Given the description of an element on the screen output the (x, y) to click on. 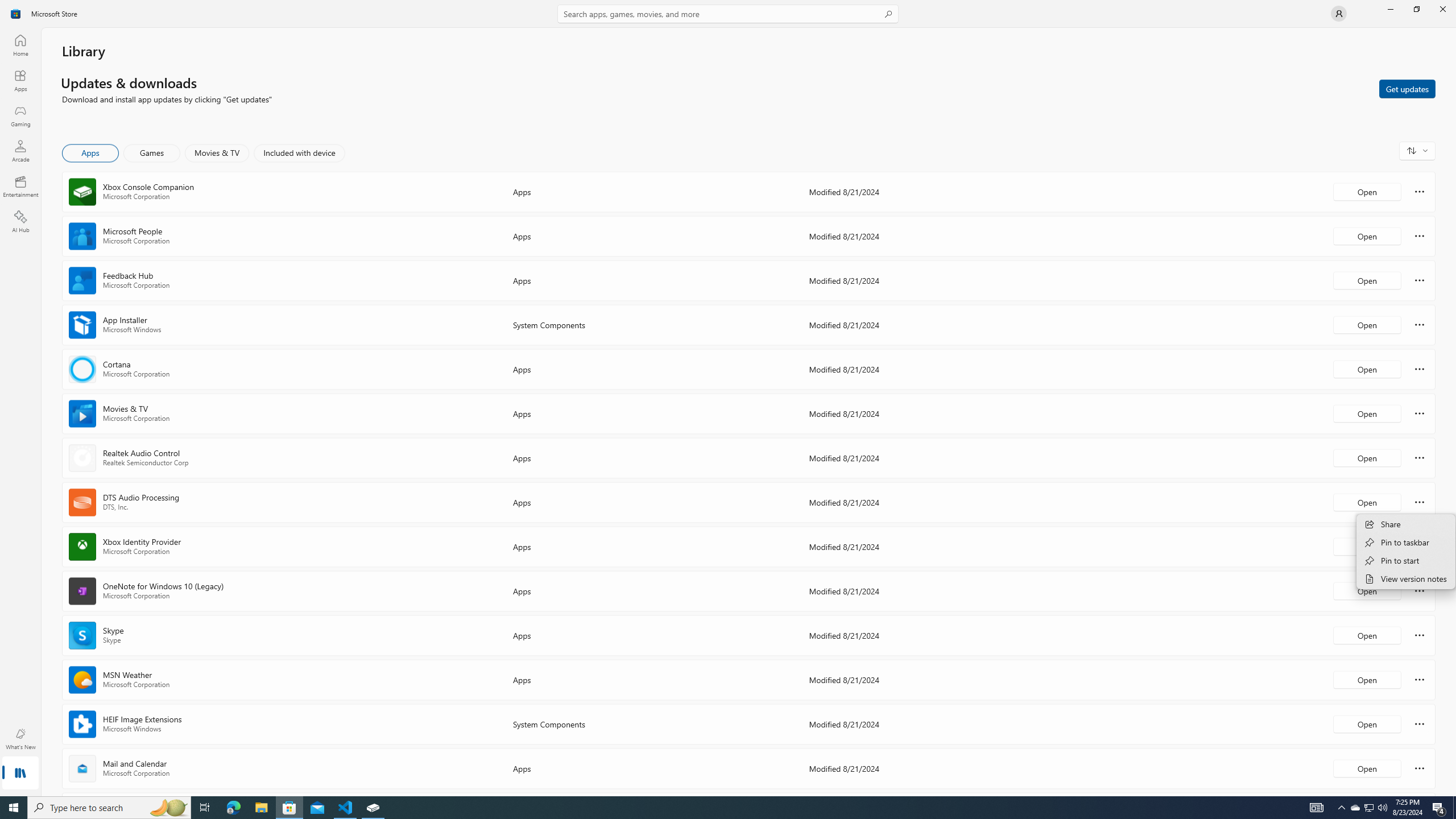
Games (151, 153)
More options (1419, 768)
Movies & TV (216, 153)
Get updates (1406, 88)
